Given the description of an element on the screen output the (x, y) to click on. 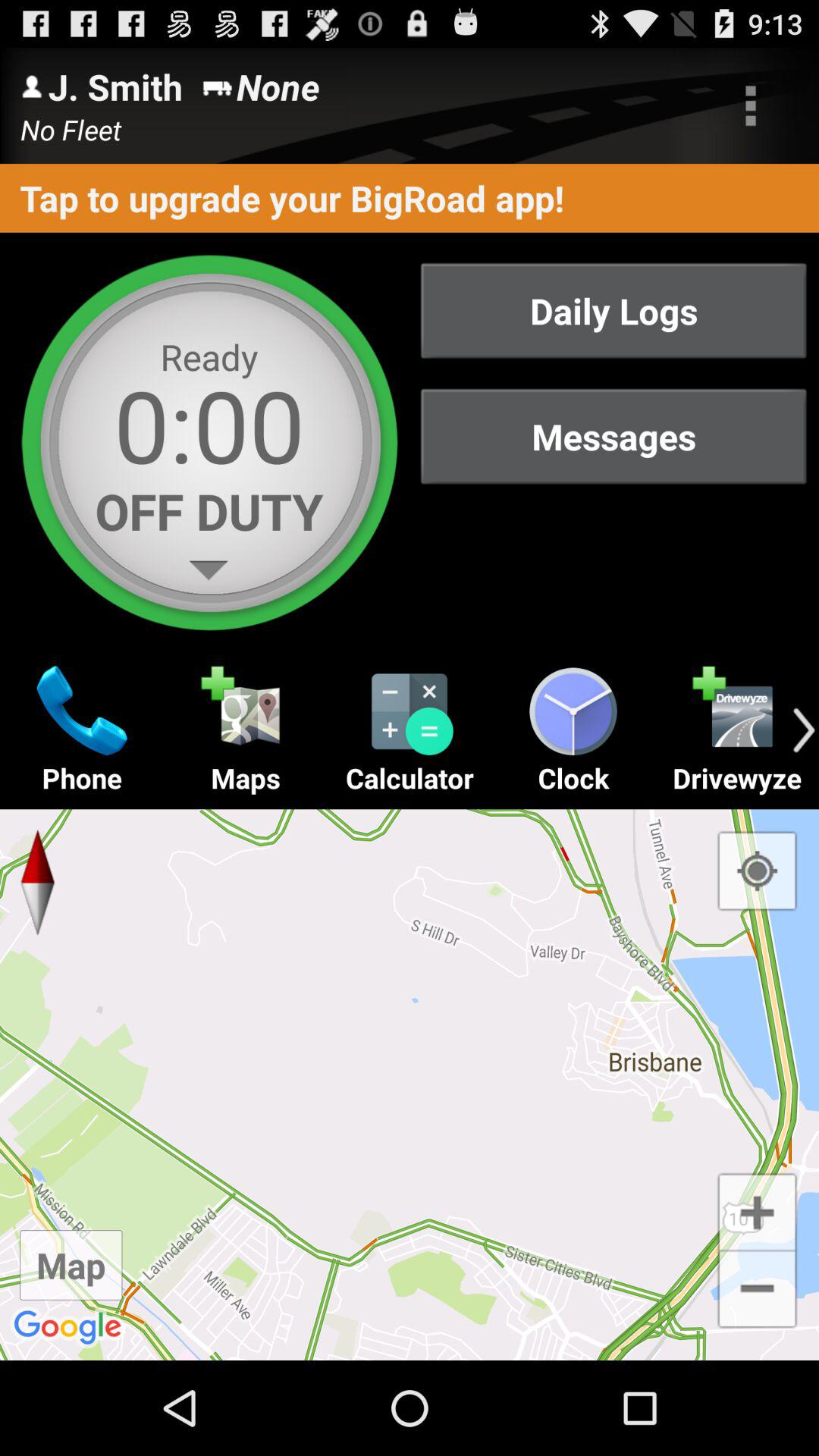
click the app below tap to upgrade (613, 310)
